Given the description of an element on the screen output the (x, y) to click on. 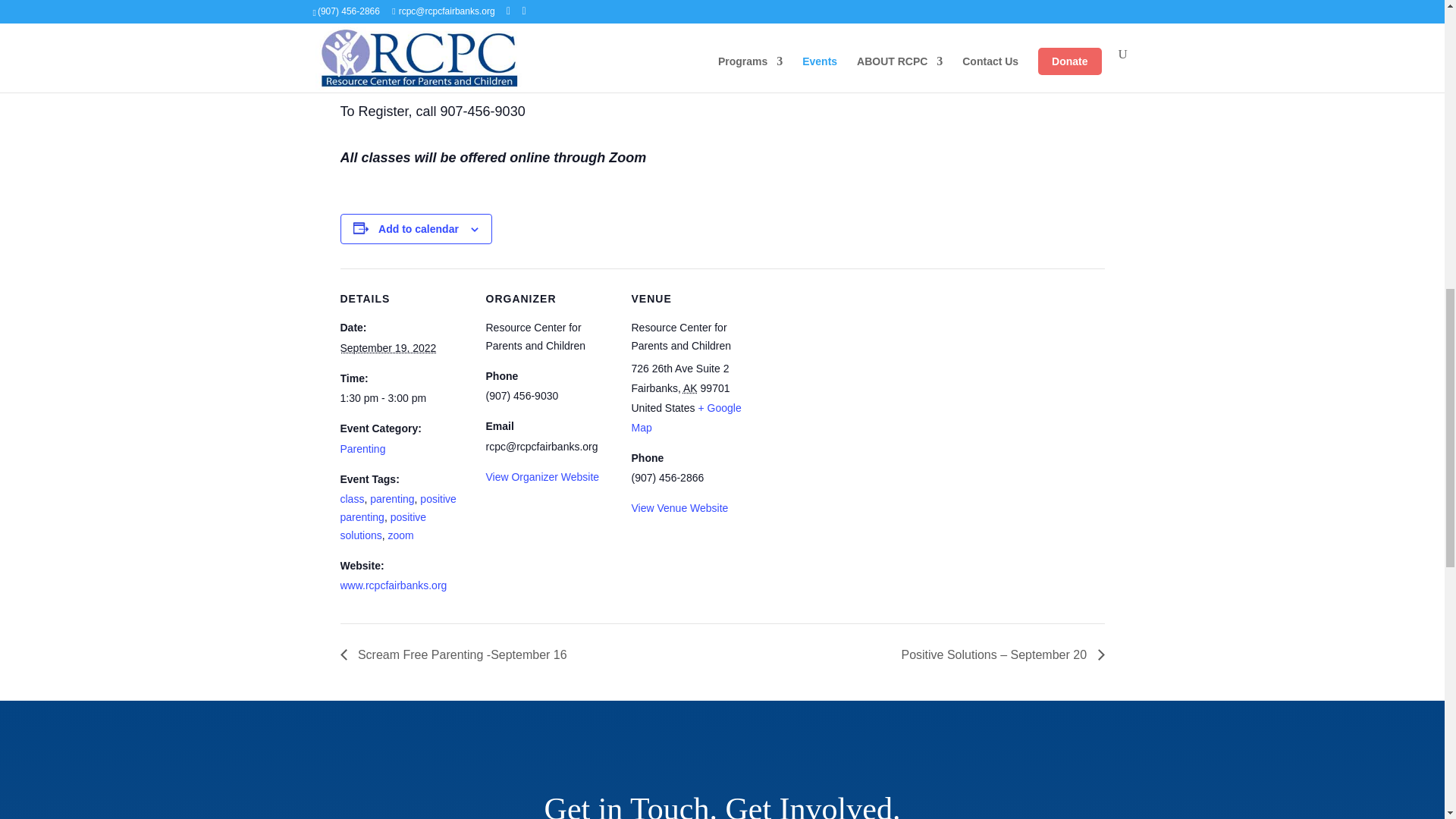
Alaska (689, 387)
Scream Free Parenting -September 16 (457, 654)
positive solutions (382, 526)
parenting (391, 499)
View Venue Website (679, 508)
positive parenting (397, 508)
zoom (400, 535)
2022-09-19 (403, 398)
Add to calendar (418, 228)
2022-09-19 (387, 347)
